Given the description of an element on the screen output the (x, y) to click on. 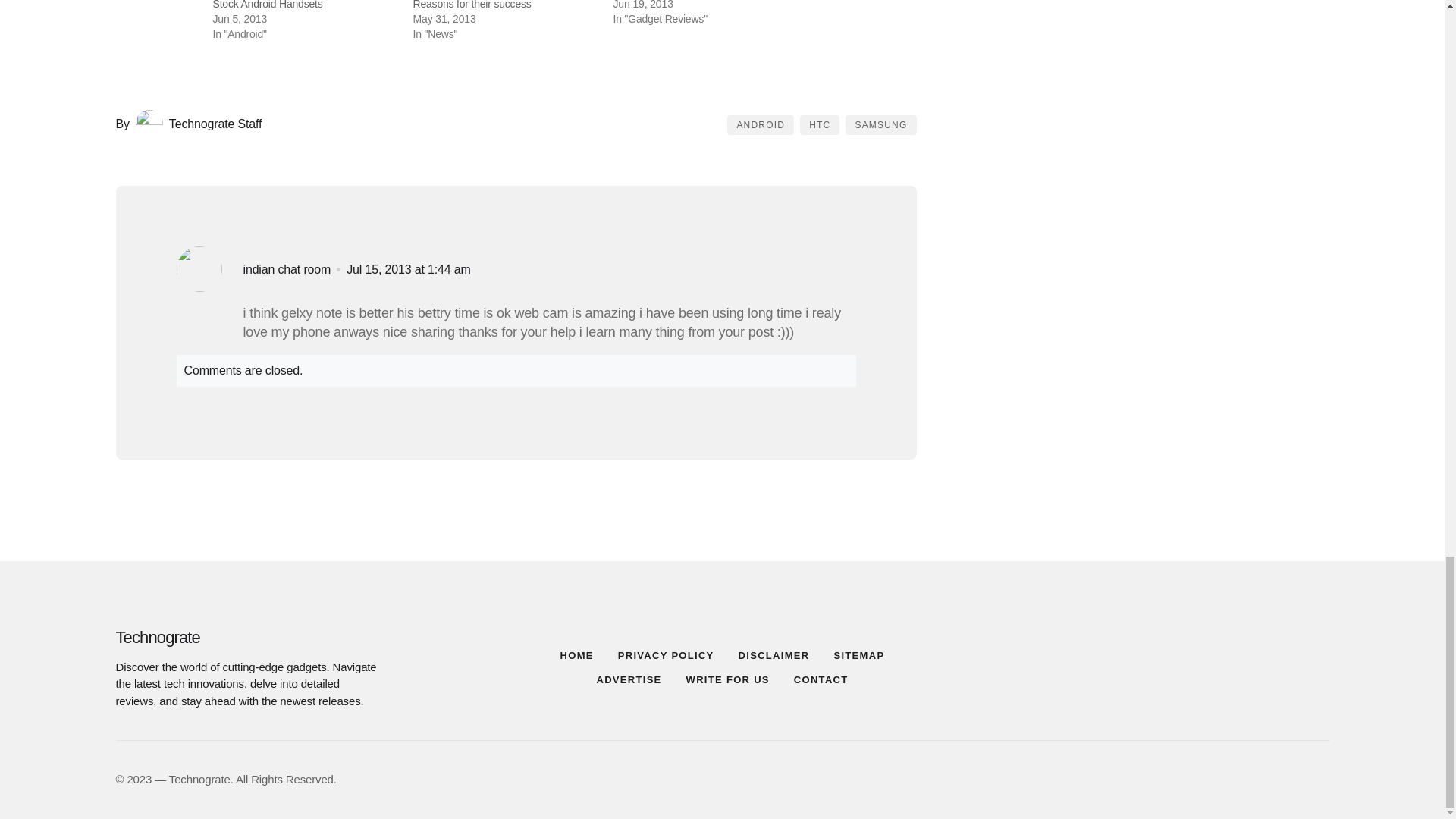
Samsung and HTC:  The New Trend for Stock Android Handsets (301, 4)
3 Best selling Android Phones: Reasons for their success (481, 4)
